Given the description of an element on the screen output the (x, y) to click on. 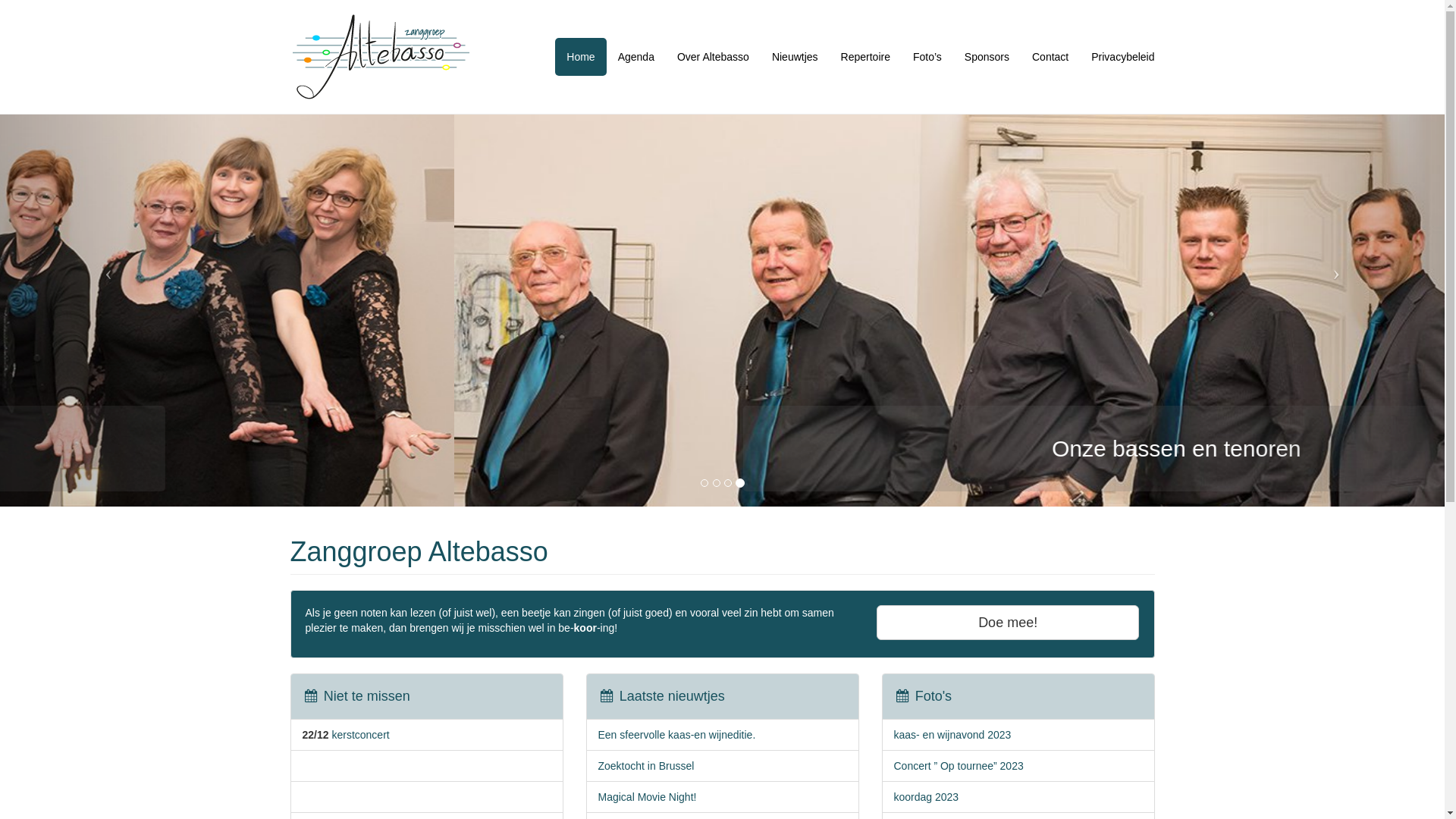
Sponsors Element type: text (986, 56)
Home Element type: text (580, 56)
Contact Element type: text (1049, 56)
Een sfeervolle kaas-en wijneditie. Element type: text (676, 734)
kerstconcert Element type: text (360, 734)
koordag 2023 Element type: text (925, 796)
altebasso Element type: hover (381, 56)
Privacybeleid Element type: text (1122, 56)
Nieuwtjes Element type: text (794, 56)
Zoektocht in Brussel Element type: text (645, 765)
Doe mee! Element type: text (1007, 622)
Over Altebasso Element type: text (712, 56)
kaas- en wijnavond 2023 Element type: text (951, 734)
Agenda Element type: text (635, 56)
Magical Movie Night! Element type: text (646, 796)
Repertoire Element type: text (865, 56)
